Given the description of an element on the screen output the (x, y) to click on. 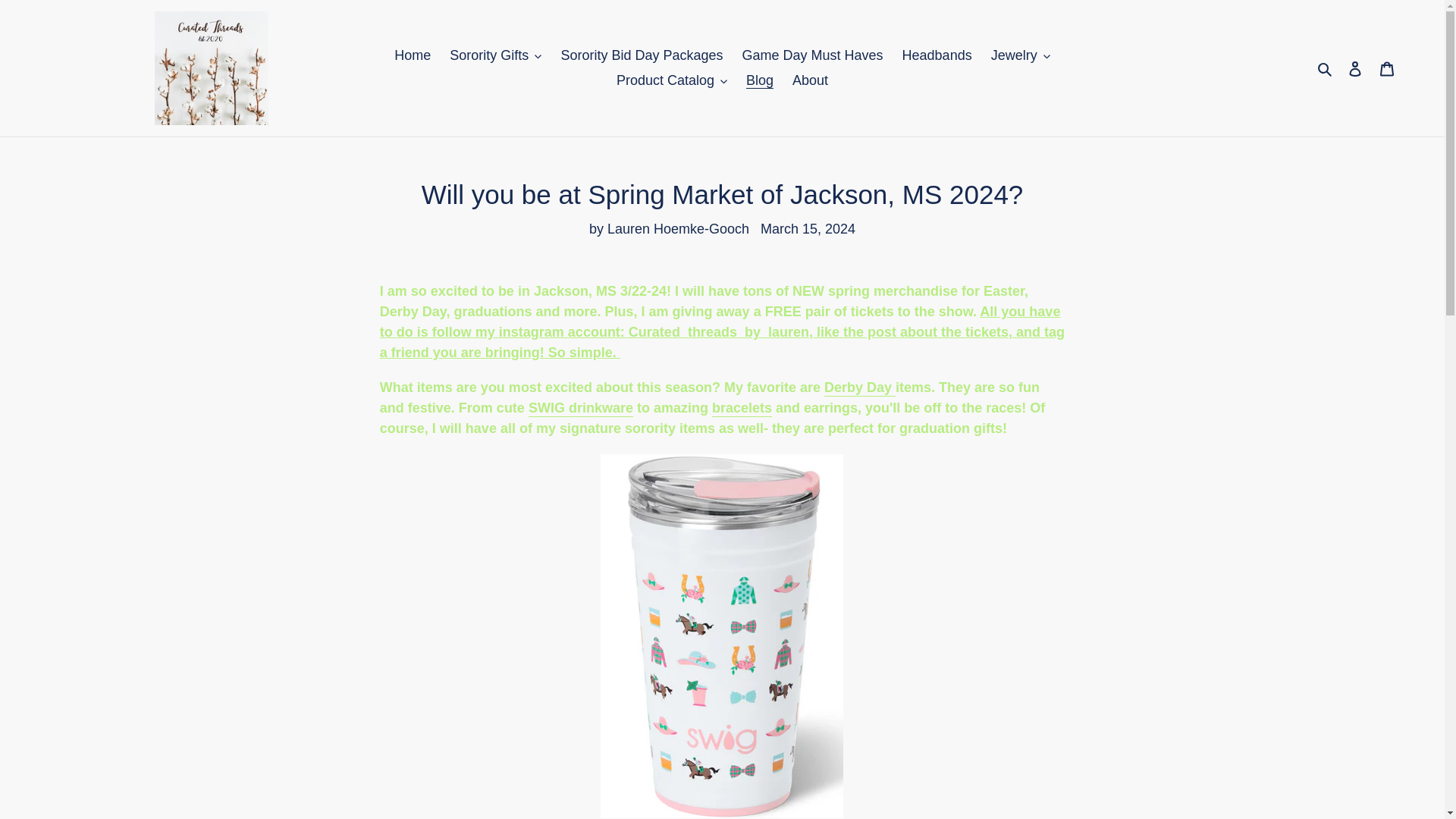
SWIG Party Cup  (580, 408)
Sorority Gifts (495, 55)
Pink Horse Bit Bangle (741, 408)
Game Day Must Haves (811, 55)
Derby Day Collection (859, 388)
Home (412, 55)
Sorority Bid Day Packages (641, 55)
Jewelry (1021, 55)
Product Catalog (671, 80)
Headbands (937, 55)
